Given the description of an element on the screen output the (x, y) to click on. 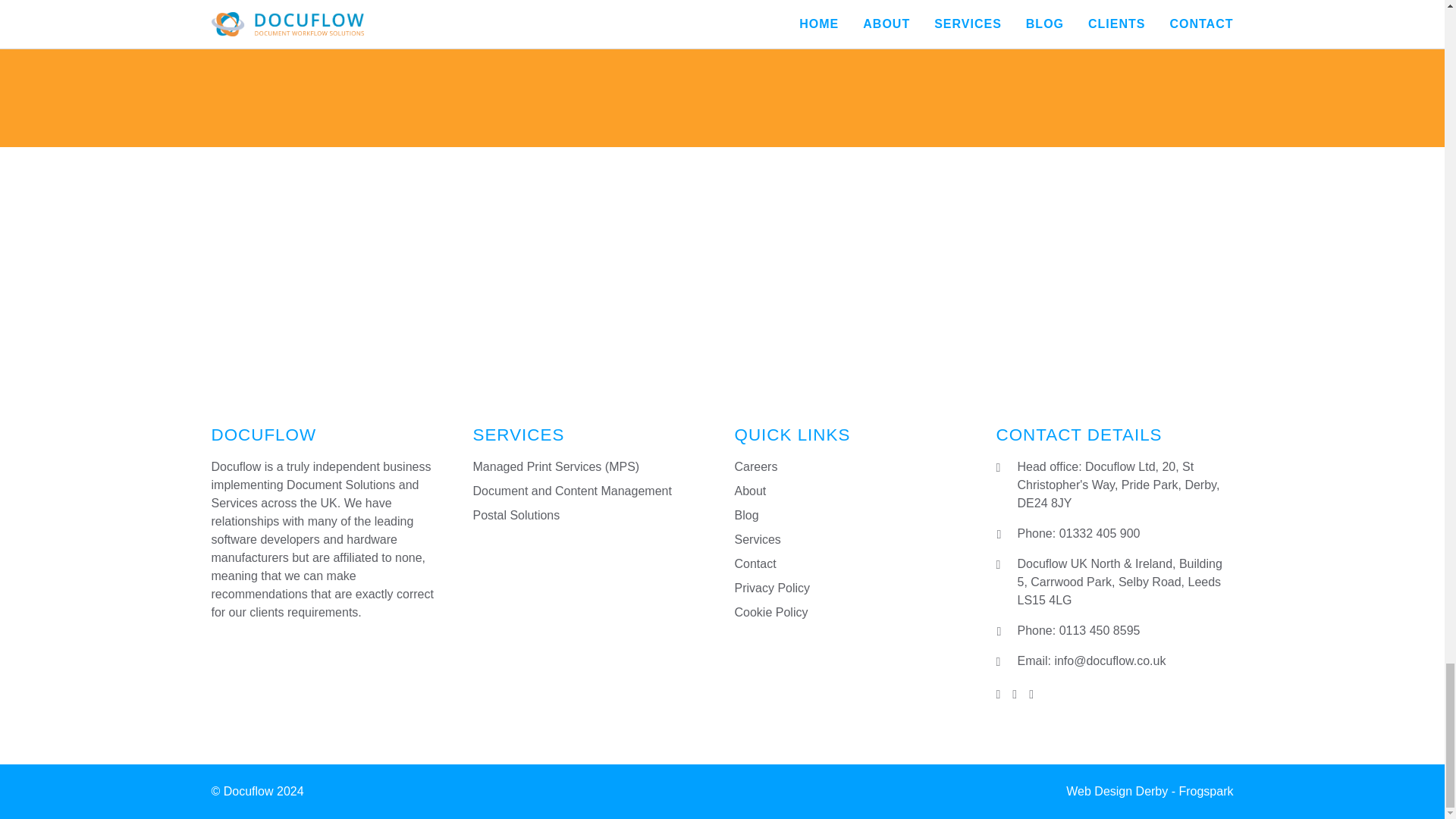
Careers (755, 466)
01332 405 900 (1099, 533)
About (749, 490)
Privacy Policy (771, 587)
Services (756, 539)
Contact (754, 563)
Document and Content Management (572, 490)
Blog (745, 514)
Cookie Policy (770, 612)
0113 450 8595 (1099, 630)
Postal Solutions (516, 514)
